Given the description of an element on the screen output the (x, y) to click on. 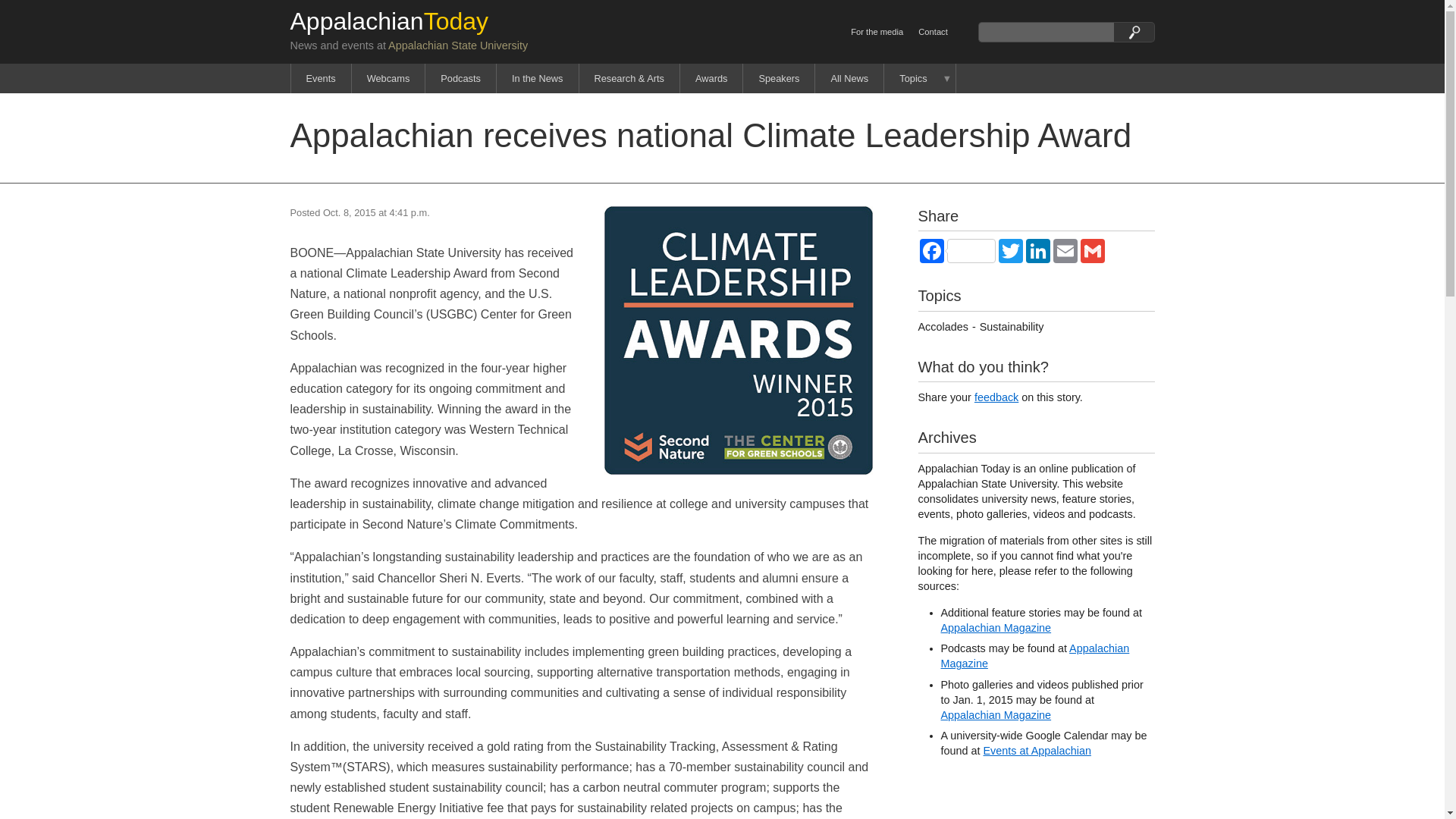
Awards (710, 78)
Speakers (777, 78)
Appalachian Today (388, 21)
Search (1133, 32)
Events (320, 78)
For the media (876, 31)
Contact (932, 31)
In the News (537, 78)
Appalachian State University (457, 45)
All News (849, 78)
